Given the description of an element on the screen output the (x, y) to click on. 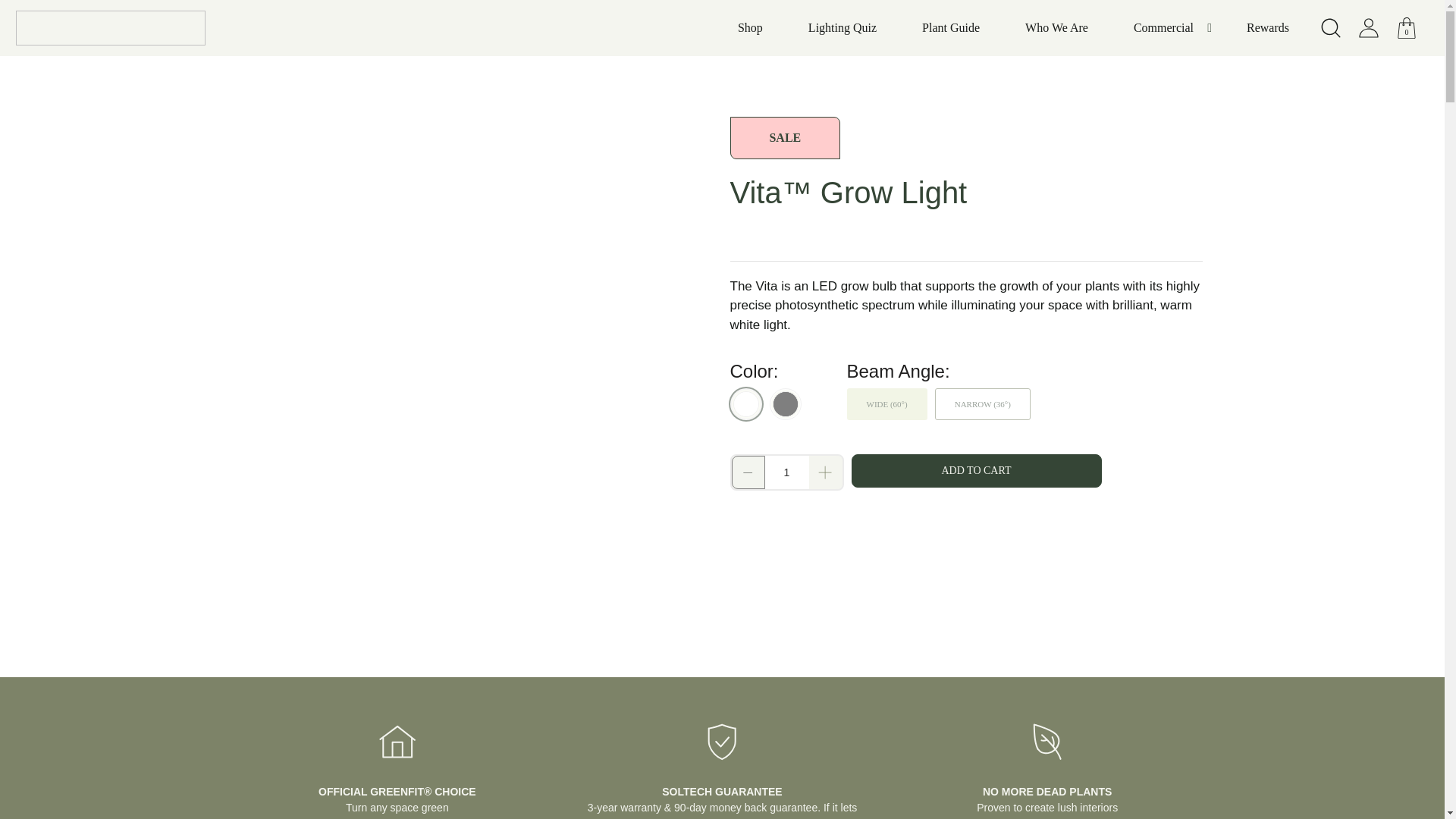
Shop (750, 27)
1 (786, 471)
Soltech (109, 27)
